Given the description of an element on the screen output the (x, y) to click on. 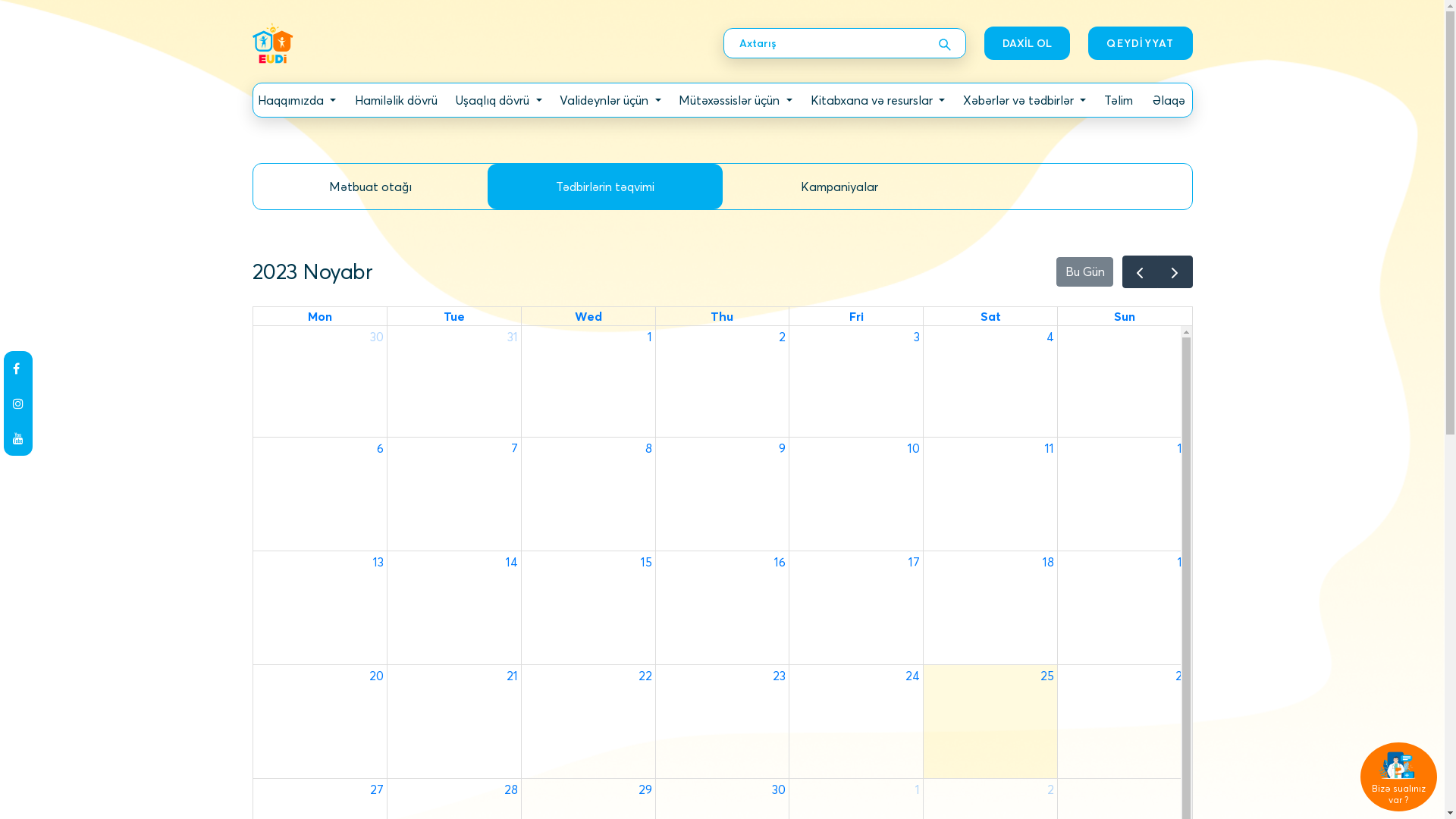
29 Element type: text (645, 789)
26 Element type: text (1182, 675)
Fri Element type: text (856, 316)
11 Element type: text (1049, 447)
1 Element type: text (649, 336)
9 Element type: text (781, 447)
22 Element type: text (645, 675)
8 Element type: text (648, 447)
2 Element type: text (1050, 789)
30 Element type: text (376, 336)
1 Element type: text (917, 789)
5 Element type: text (1184, 336)
14 Element type: text (511, 561)
19 Element type: text (1182, 561)
Kampaniyalar Element type: text (839, 186)
Thu Element type: text (721, 316)
Wed Element type: text (588, 316)
12 Element type: text (1182, 447)
3 Element type: text (916, 336)
3 Element type: text (1185, 789)
17 Element type: text (913, 561)
28 Element type: text (510, 789)
23 Element type: text (778, 675)
20 Element type: text (376, 675)
2 Element type: text (781, 336)
24 Element type: text (912, 675)
30 Element type: text (778, 789)
6 Element type: text (379, 447)
25 Element type: text (1047, 675)
7 Element type: text (514, 447)
16 Element type: text (779, 561)
21 Element type: text (511, 675)
13 Element type: text (378, 561)
Tue Element type: text (453, 316)
31 Element type: text (512, 336)
Sat Element type: text (990, 316)
4 Element type: text (1050, 336)
10 Element type: text (913, 447)
27 Element type: text (376, 789)
15 Element type: text (646, 561)
Mon Element type: text (319, 316)
Sun Element type: text (1124, 316)
18 Element type: text (1048, 561)
